Given the description of an element on the screen output the (x, y) to click on. 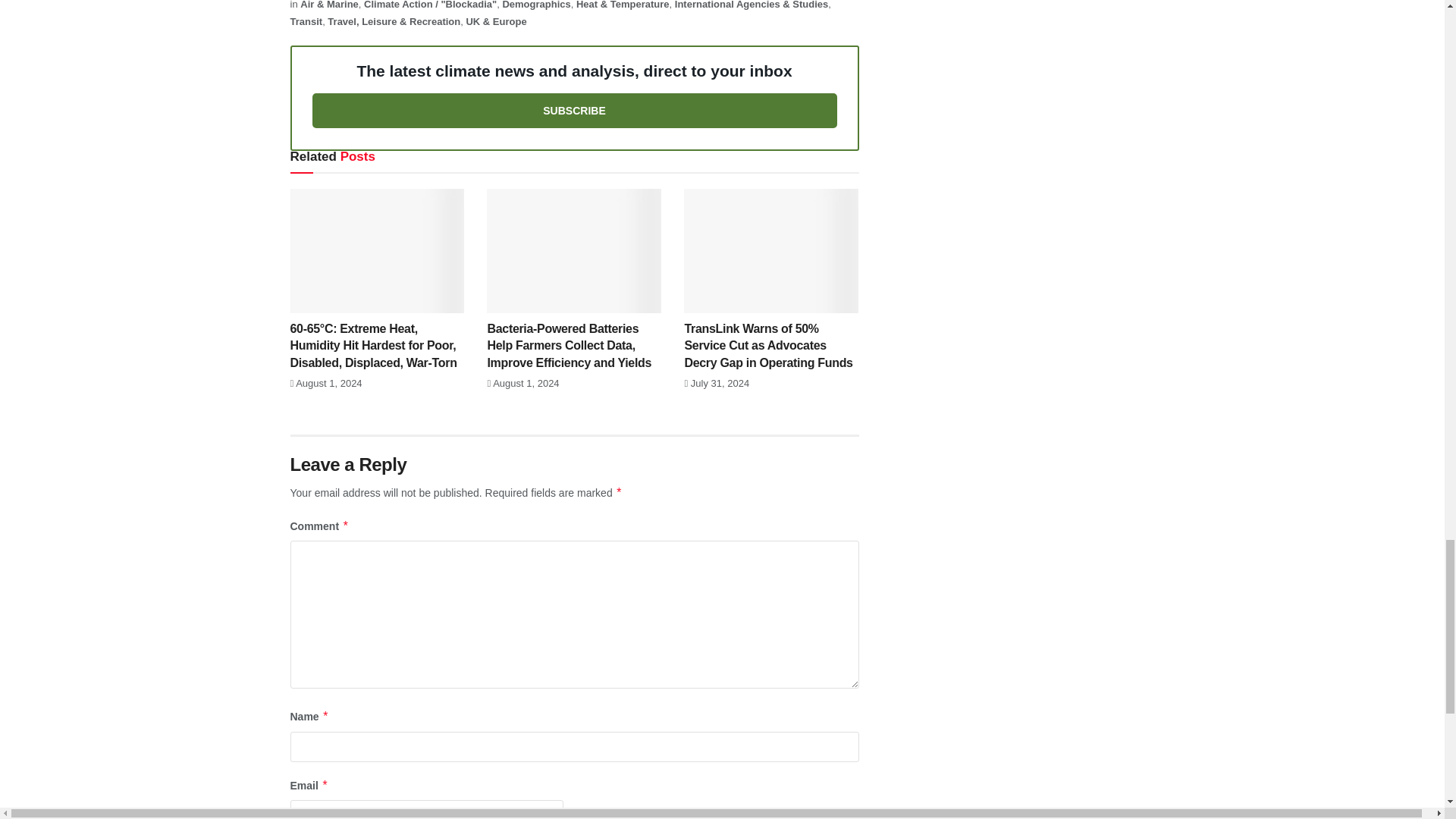
View Subscription Options (575, 110)
